Given the description of an element on the screen output the (x, y) to click on. 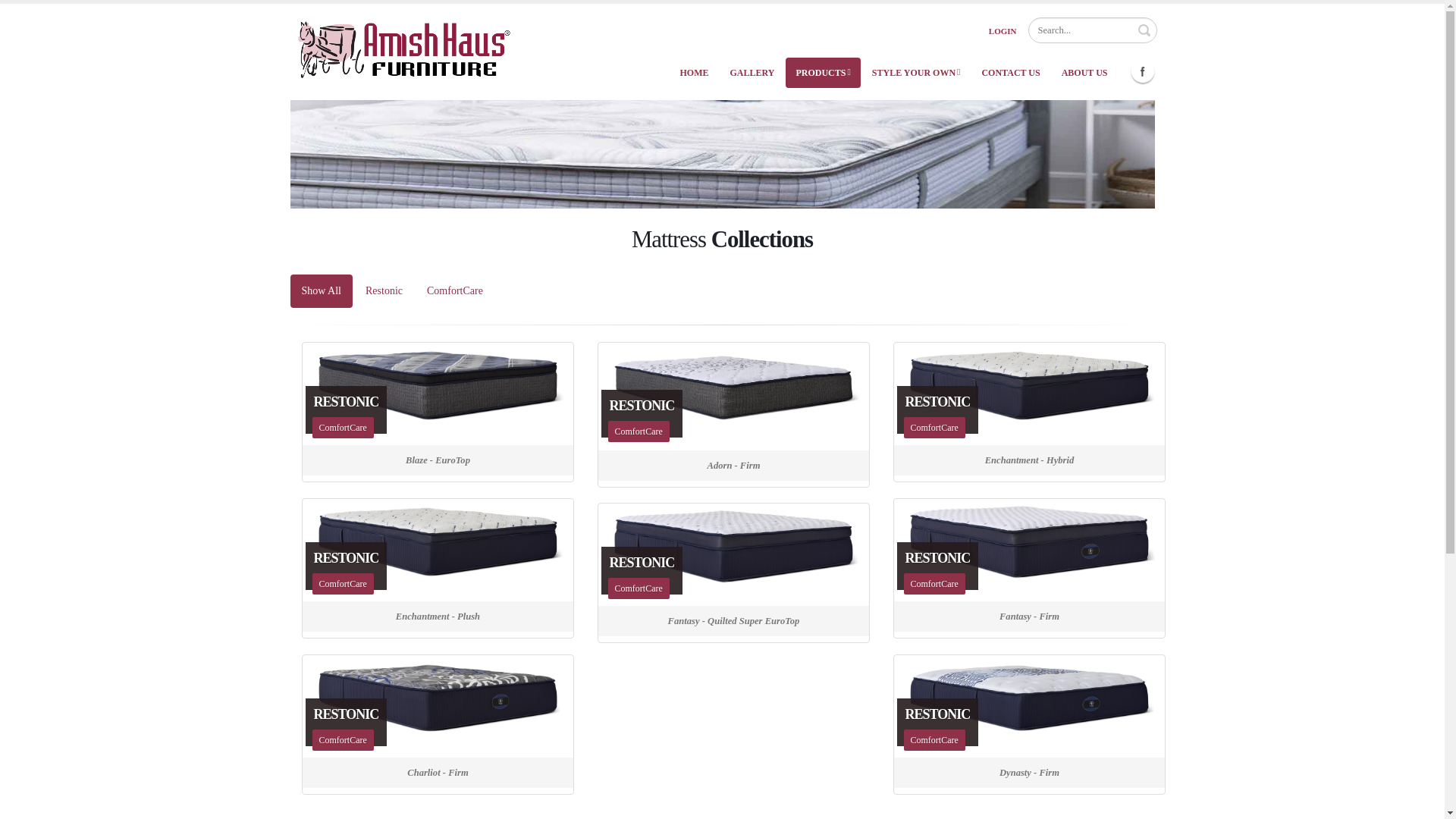
HOME (693, 72)
Facebook (1142, 70)
STYLE YOUR OWN (916, 72)
LOGIN (1002, 31)
Clear search text (1143, 28)
Facebook (1142, 70)
ABOUT US (1084, 72)
Amish Haus Furniture (1028, 392)
CONTACT US (732, 394)
ComfortCare (402, 48)
